Given the description of an element on the screen output the (x, y) to click on. 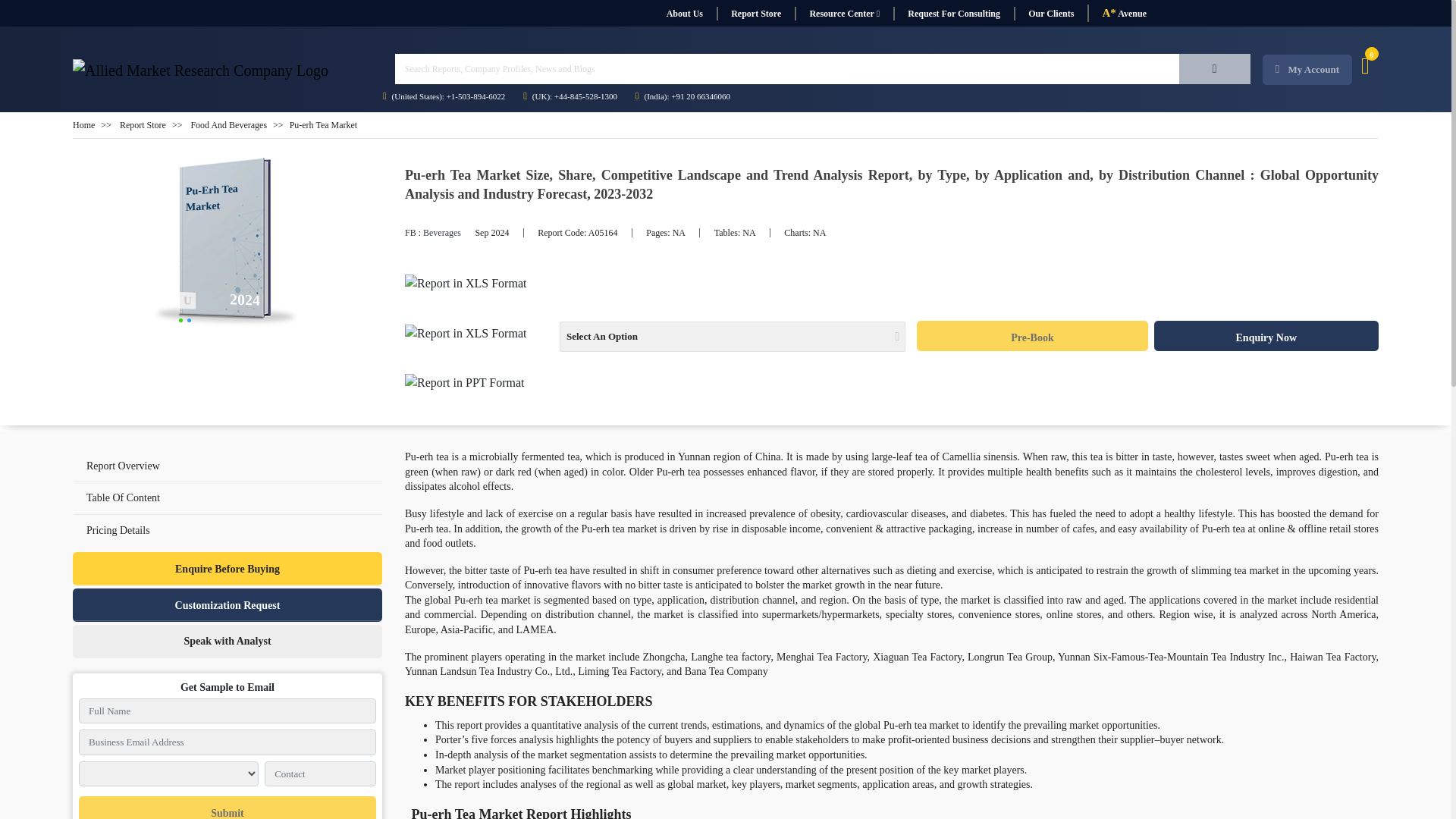
Pre-Book (1032, 336)
Speak with Analyst (226, 641)
About Us (684, 13)
Pricing Details (226, 531)
Allied Market Research (200, 69)
Enquire Before Buying (226, 568)
Allied Market Research (227, 242)
Submit (226, 807)
Table Of Content (122, 497)
Report Store (755, 13)
